Given the description of an element on the screen output the (x, y) to click on. 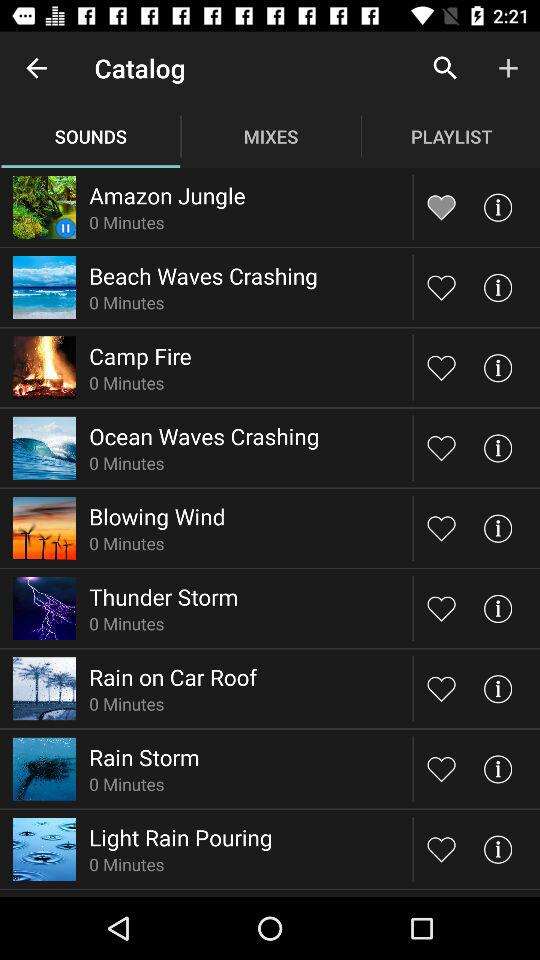
like sound (441, 367)
